Given the description of an element on the screen output the (x, y) to click on. 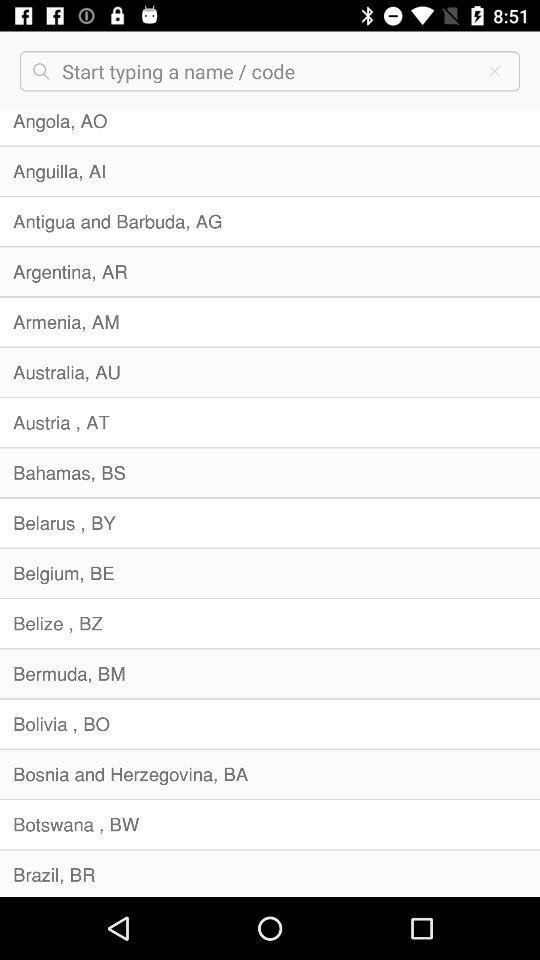
select icon below bermuda, bm (270, 723)
